Given the description of an element on the screen output the (x, y) to click on. 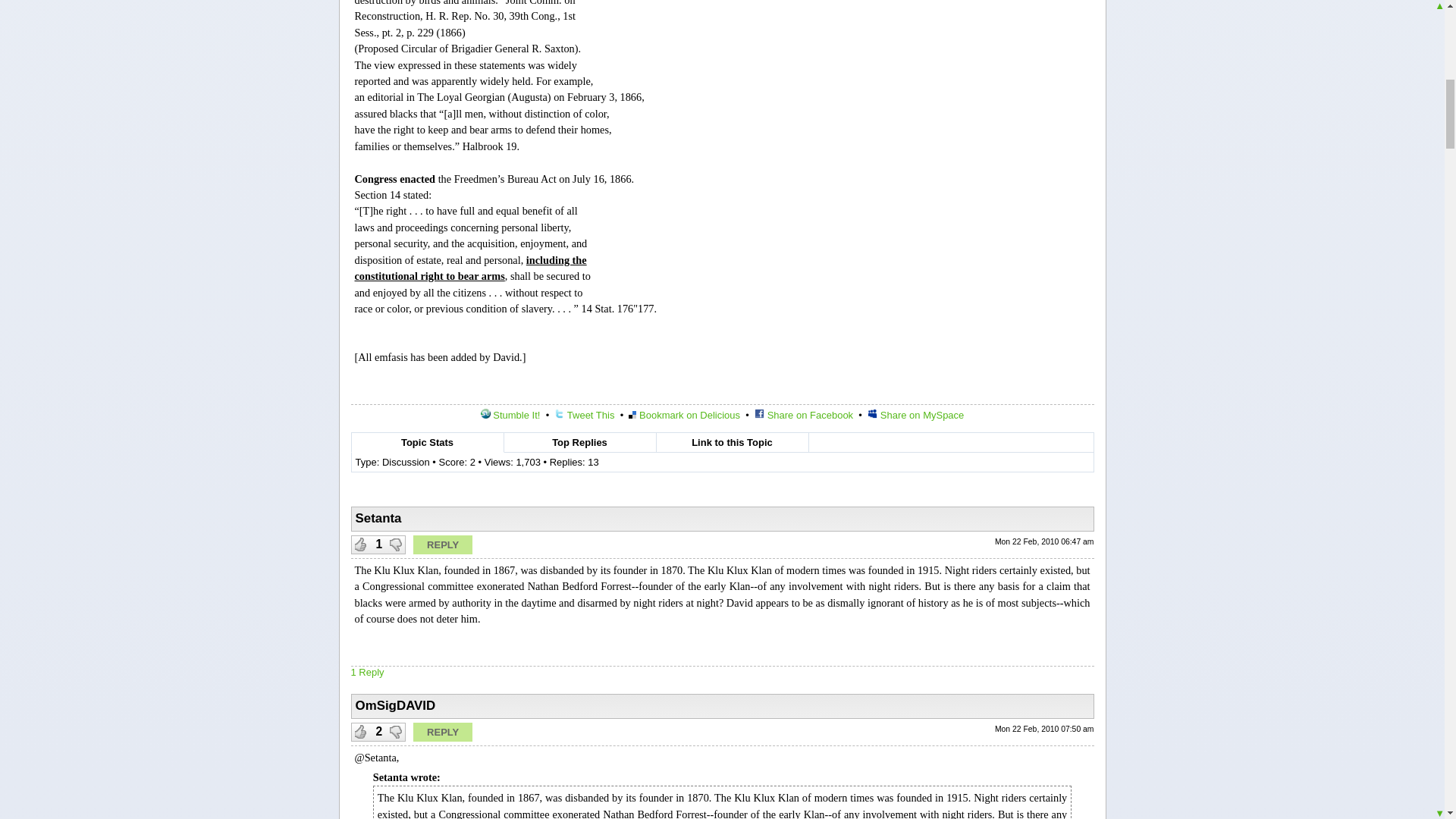
Reply (442, 544)
Bookmark on Delicious (683, 414)
Stumble It! (510, 414)
Reply (442, 732)
Share on Facebook (803, 414)
Share on MySpace (915, 414)
Tweet This (584, 414)
